Given the description of an element on the screen output the (x, y) to click on. 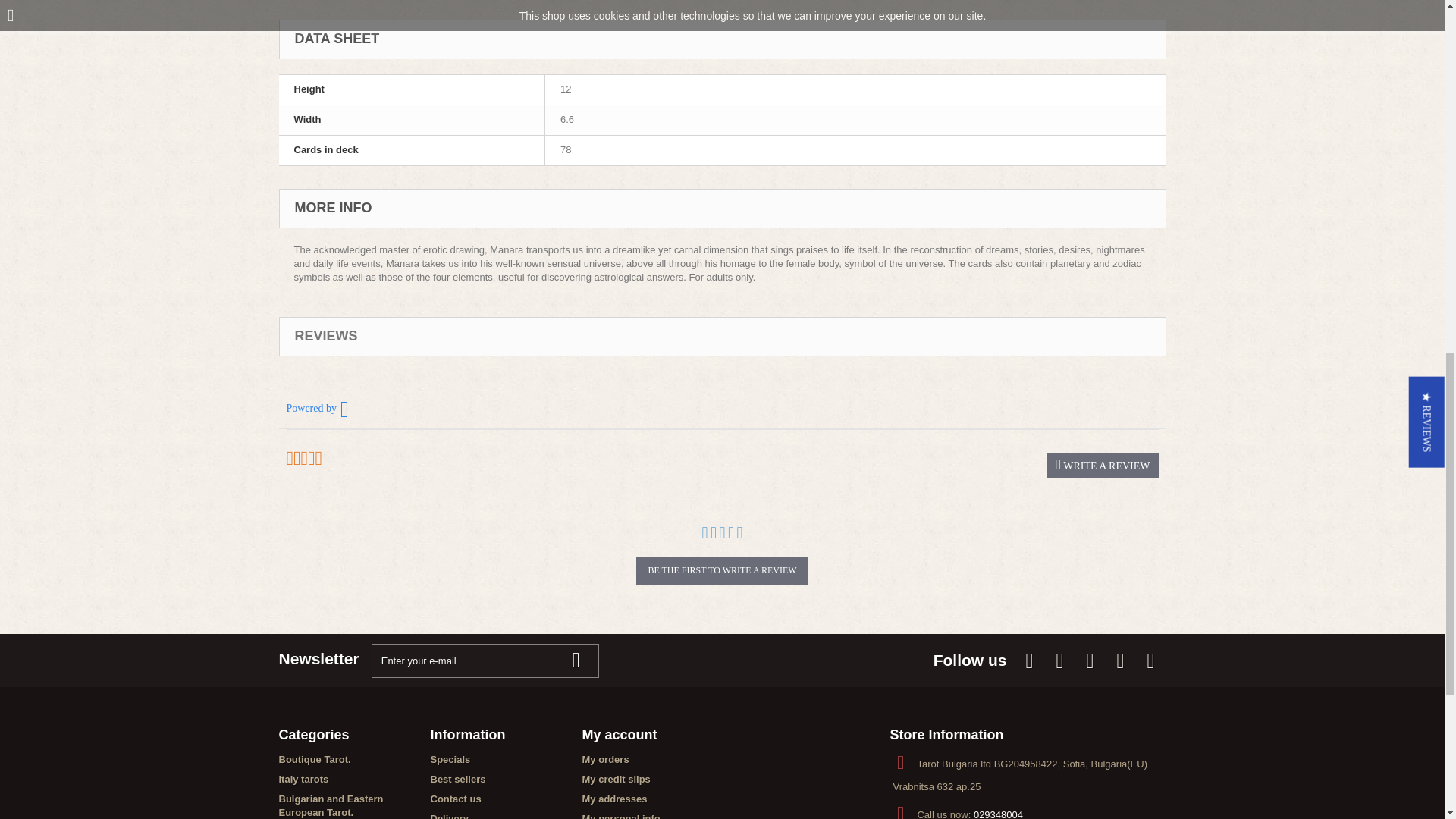
Enter your e-mail (484, 660)
